Given the description of an element on the screen output the (x, y) to click on. 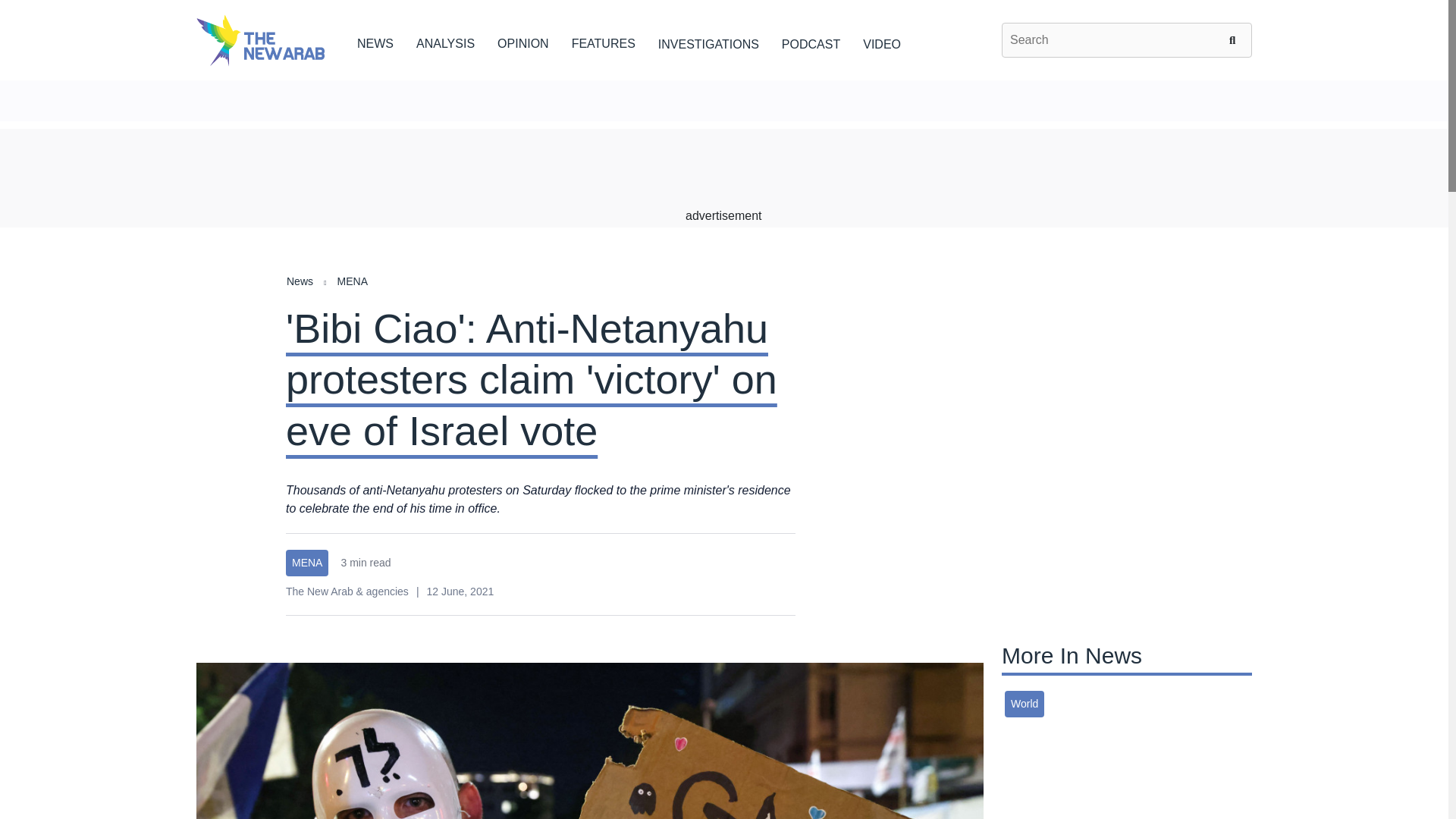
NEWS (375, 41)
OPINION (523, 41)
Search (1234, 39)
ANALYSIS (445, 41)
Skip to main content (724, 81)
